Given the description of an element on the screen output the (x, y) to click on. 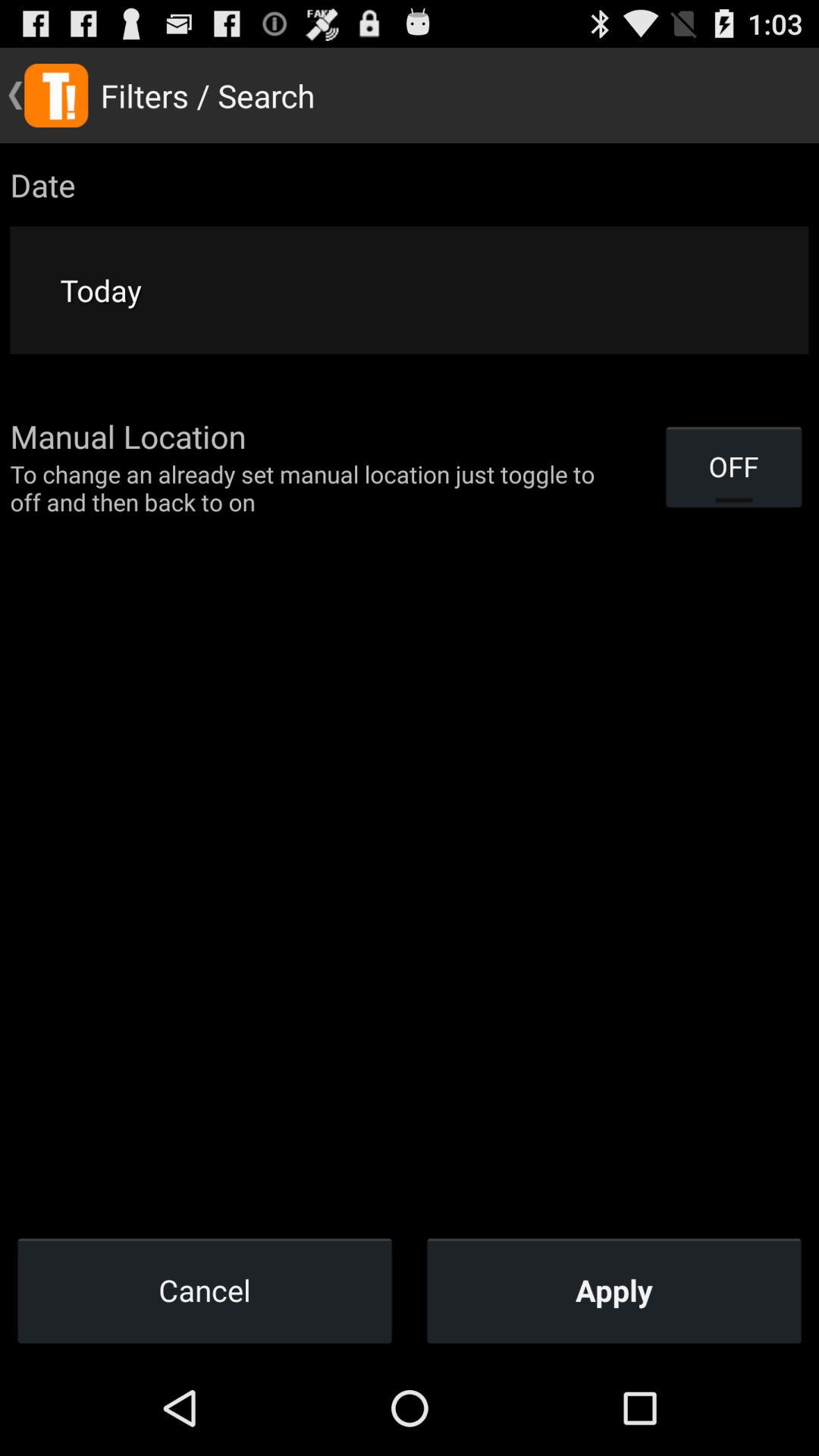
flip to cancel item (204, 1290)
